Given the description of an element on the screen output the (x, y) to click on. 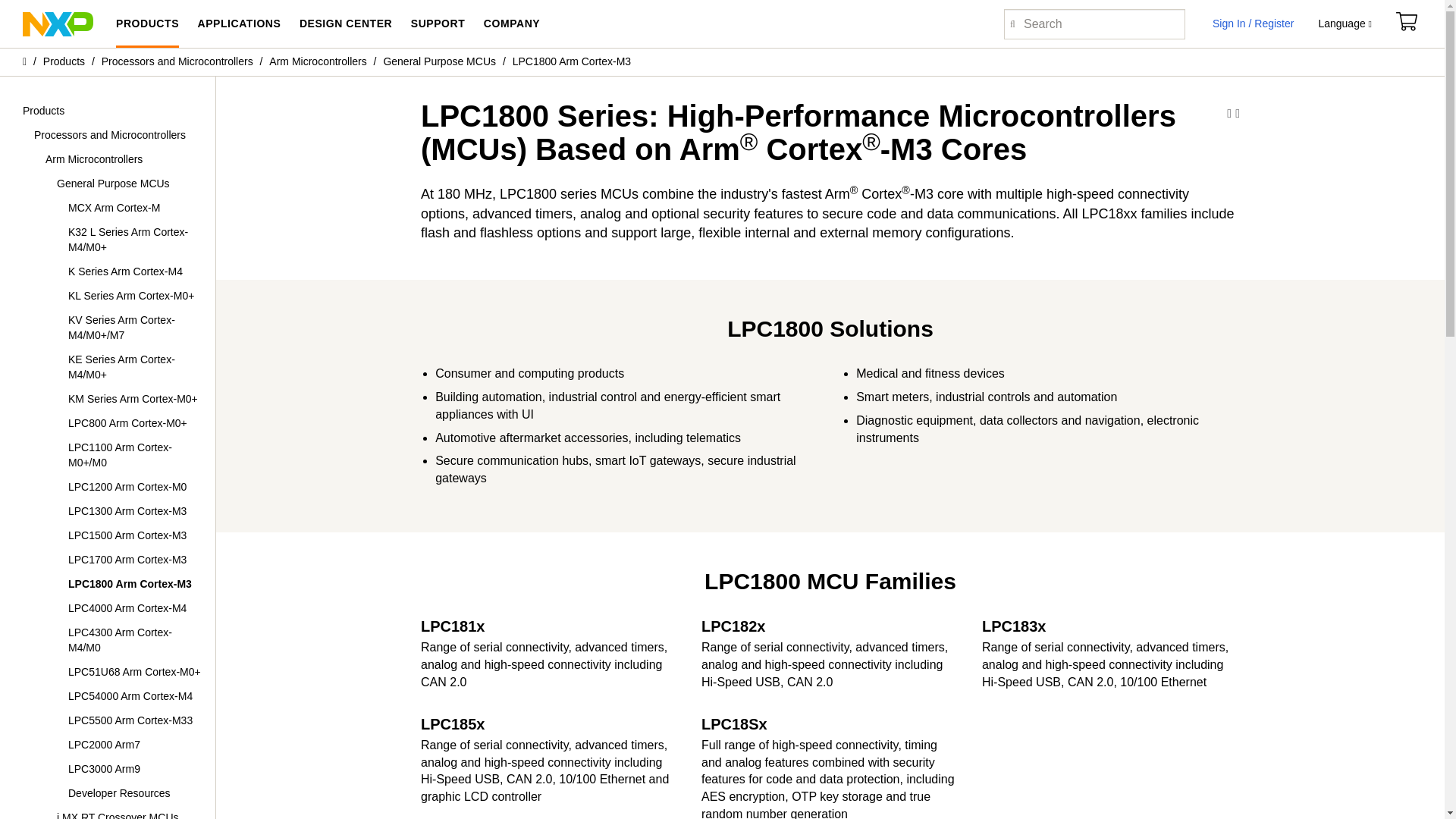
Language  (1344, 23)
PRODUCTS (147, 23)
SUPPORT (437, 23)
COMPANY (511, 23)
NXP Semiconductor (58, 23)
APPLICATIONS (238, 23)
DESIGN CENTER (345, 23)
